Given the description of an element on the screen output the (x, y) to click on. 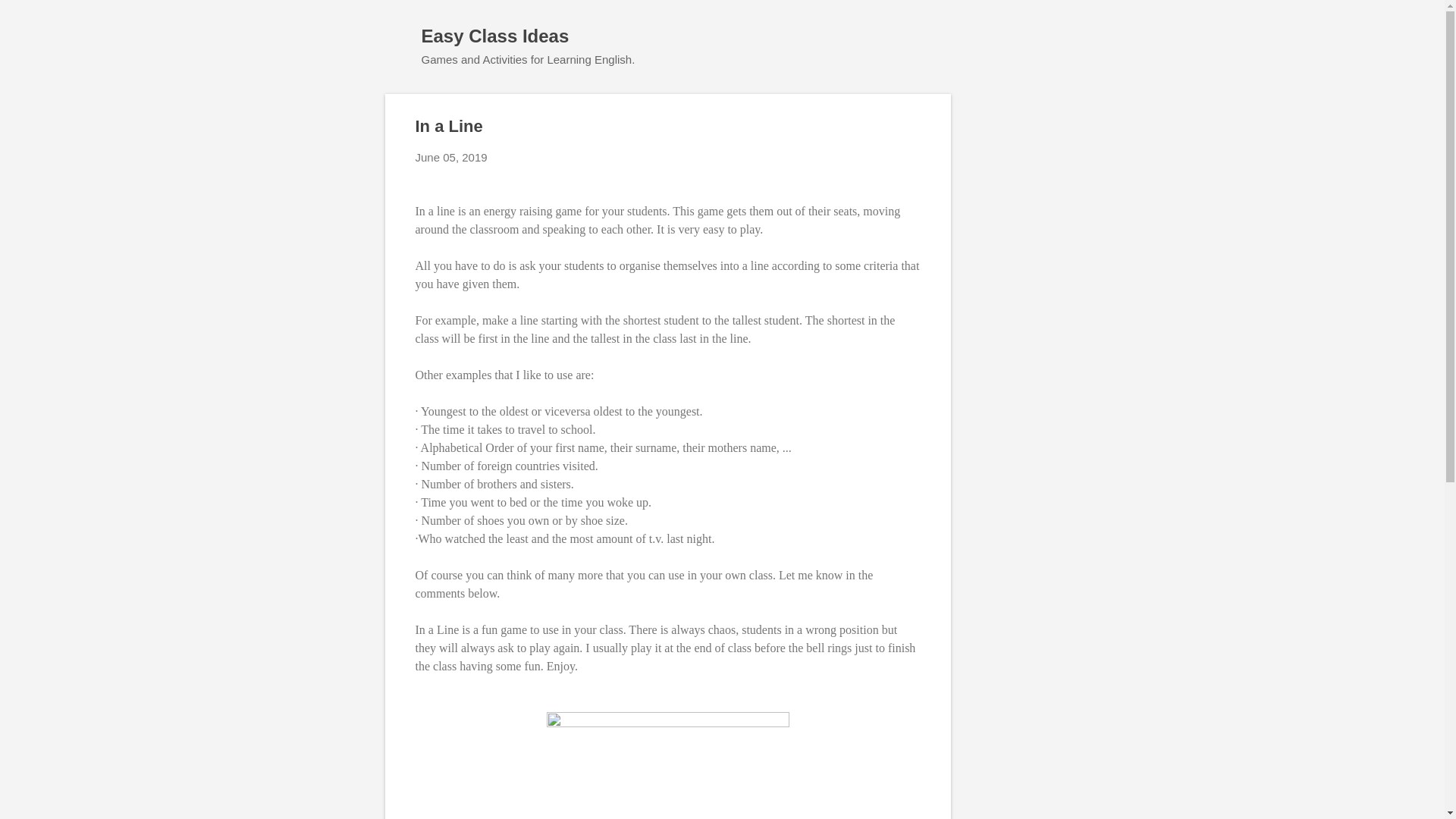
Easy Class Ideas (495, 35)
June 05, 2019 (450, 156)
permanent link (450, 156)
